Given the description of an element on the screen output the (x, y) to click on. 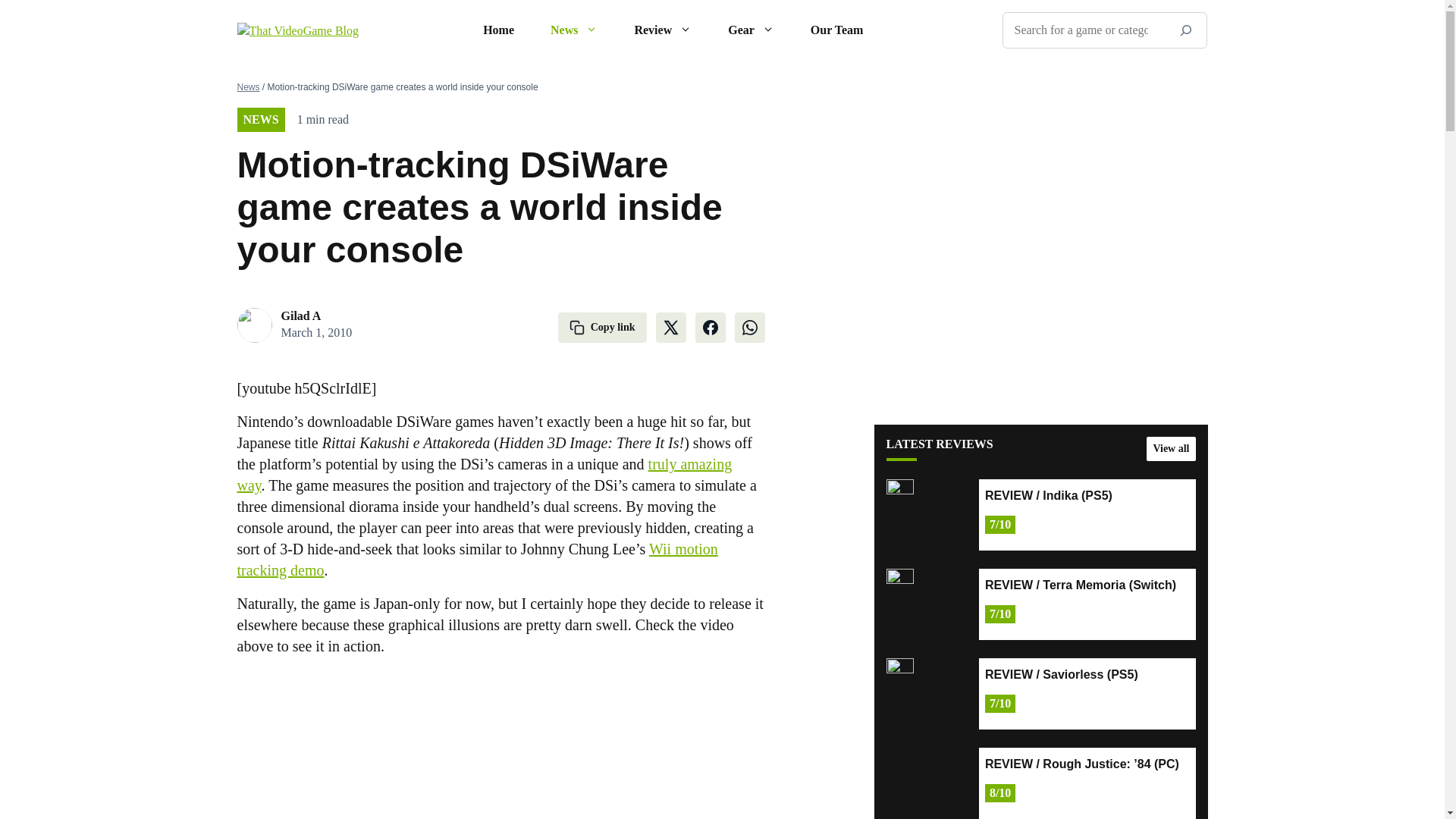
News (573, 29)
Review (662, 29)
Home (498, 29)
Gear (751, 29)
